Given the description of an element on the screen output the (x, y) to click on. 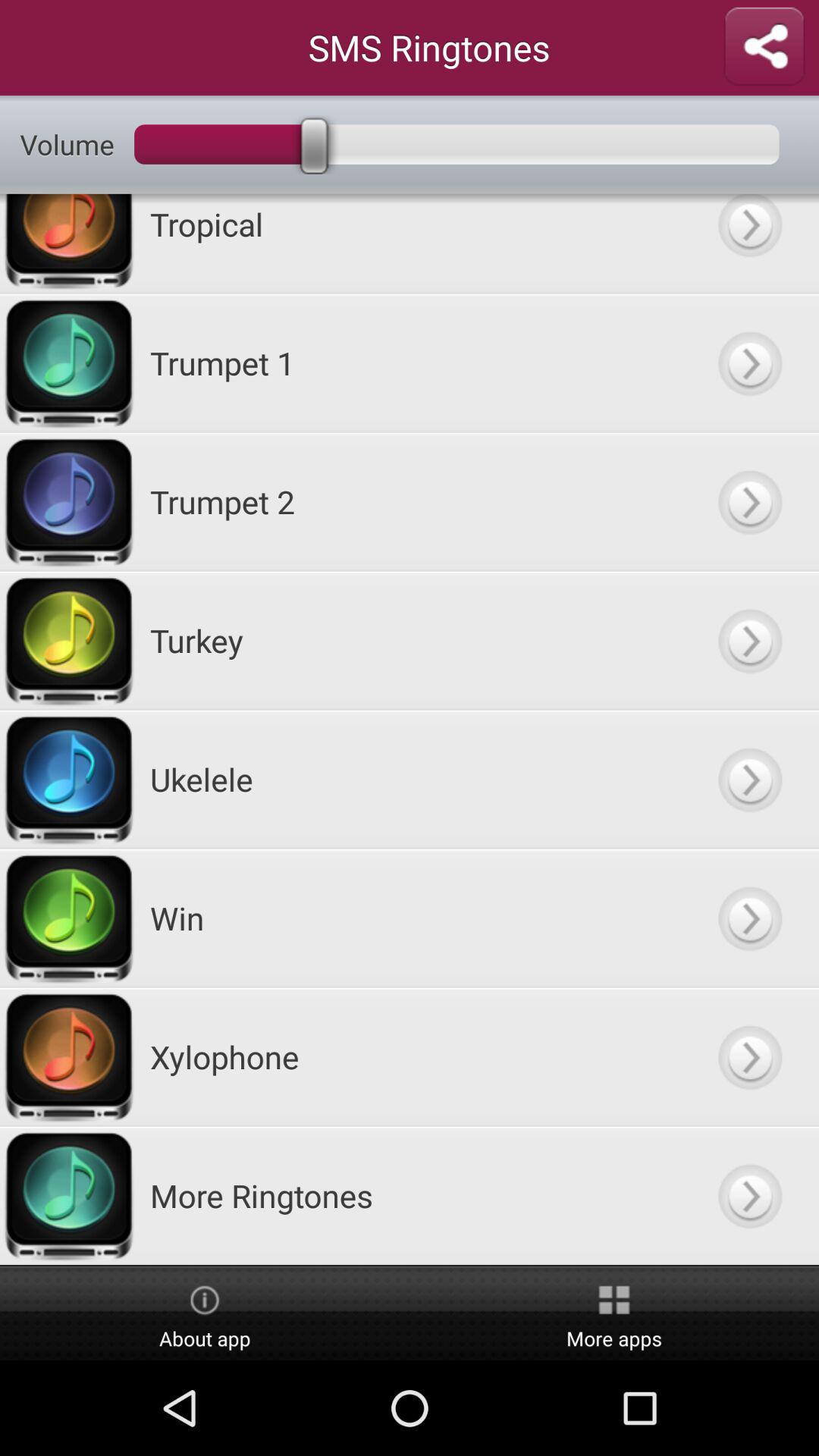
select turkey audio (749, 640)
